Given the description of an element on the screen output the (x, y) to click on. 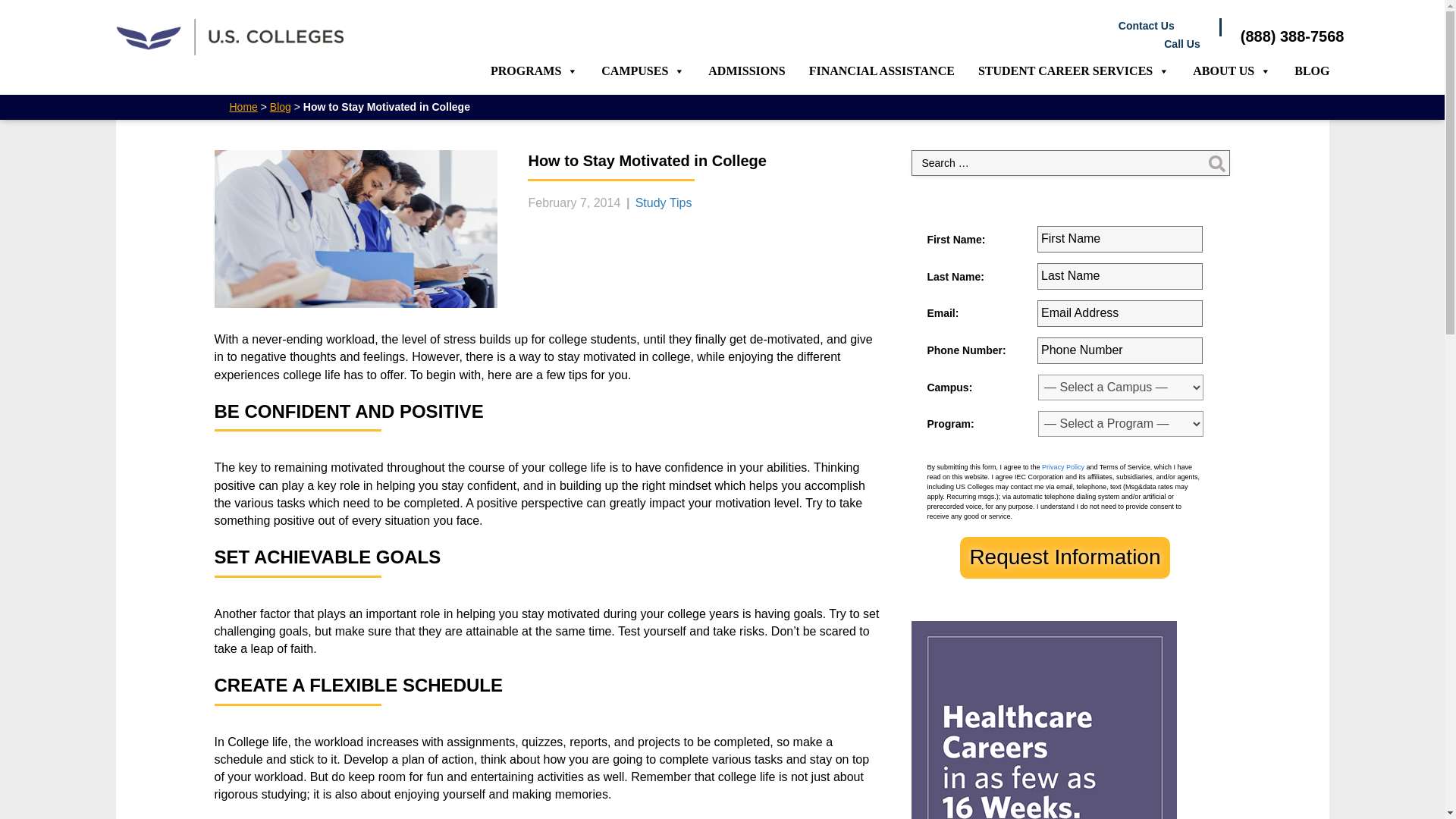
PROGRAMS (533, 71)
ADMISSIONS (745, 71)
Contact Us (789, 25)
Call Us (801, 43)
STUDENT CAREER SERVICES (1073, 71)
uscmed-blog-archive-banner (1043, 719)
U.S. Colleges (228, 36)
Request Information (1064, 557)
BLOG (1311, 71)
CAMPUSES (642, 71)
ABOUT US (1231, 71)
How to Stay Motivated in College (355, 228)
FINANCIAL ASSISTANCE (881, 71)
Type and press Enter to search. (1070, 162)
